Given the description of an element on the screen output the (x, y) to click on. 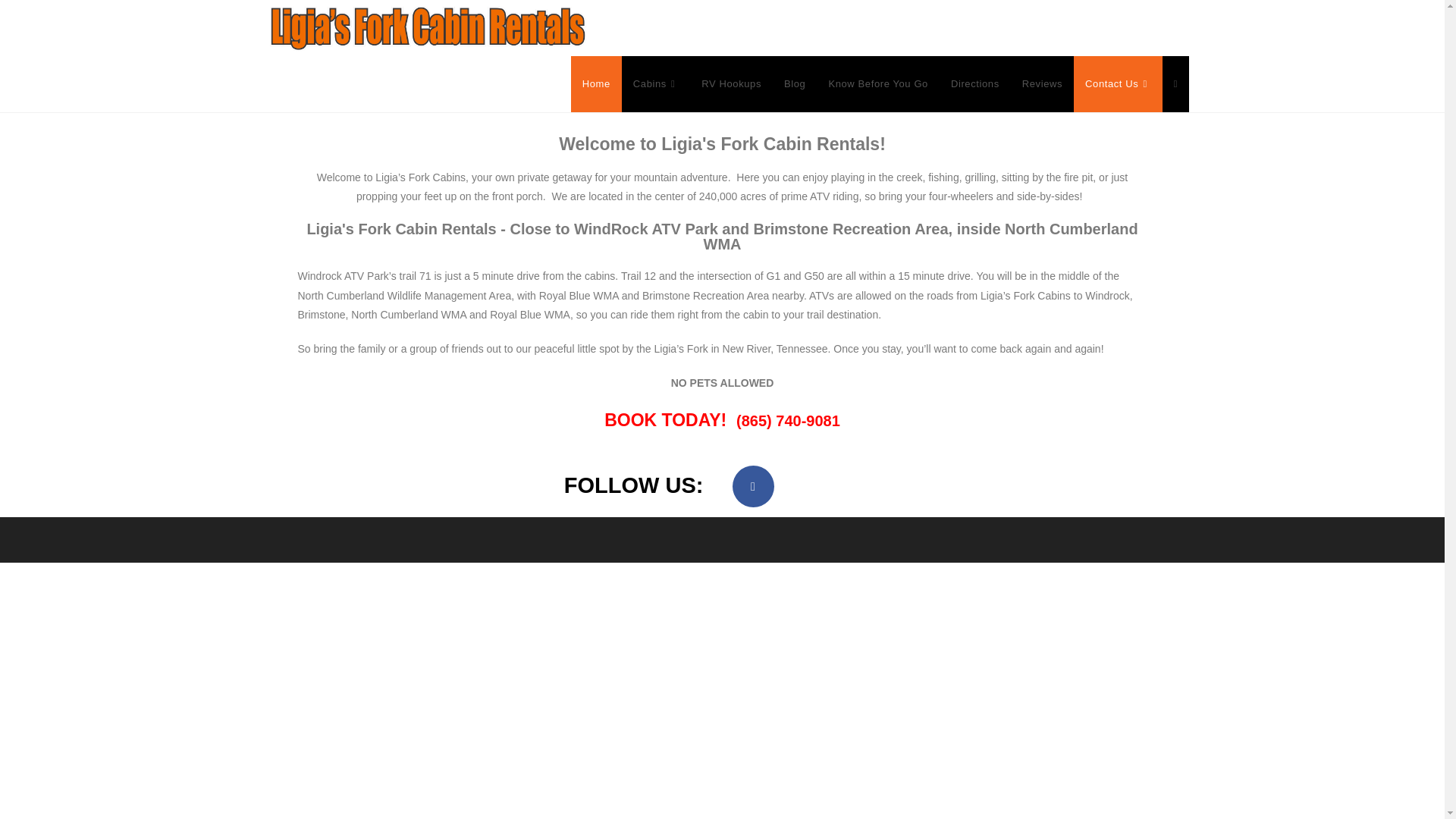
Know Before You Go (877, 84)
Reviews (1042, 84)
RV Hookups (731, 84)
Home (595, 84)
Directions (974, 84)
Contact Us (1117, 84)
Cabins (655, 84)
